Given the description of an element on the screen output the (x, y) to click on. 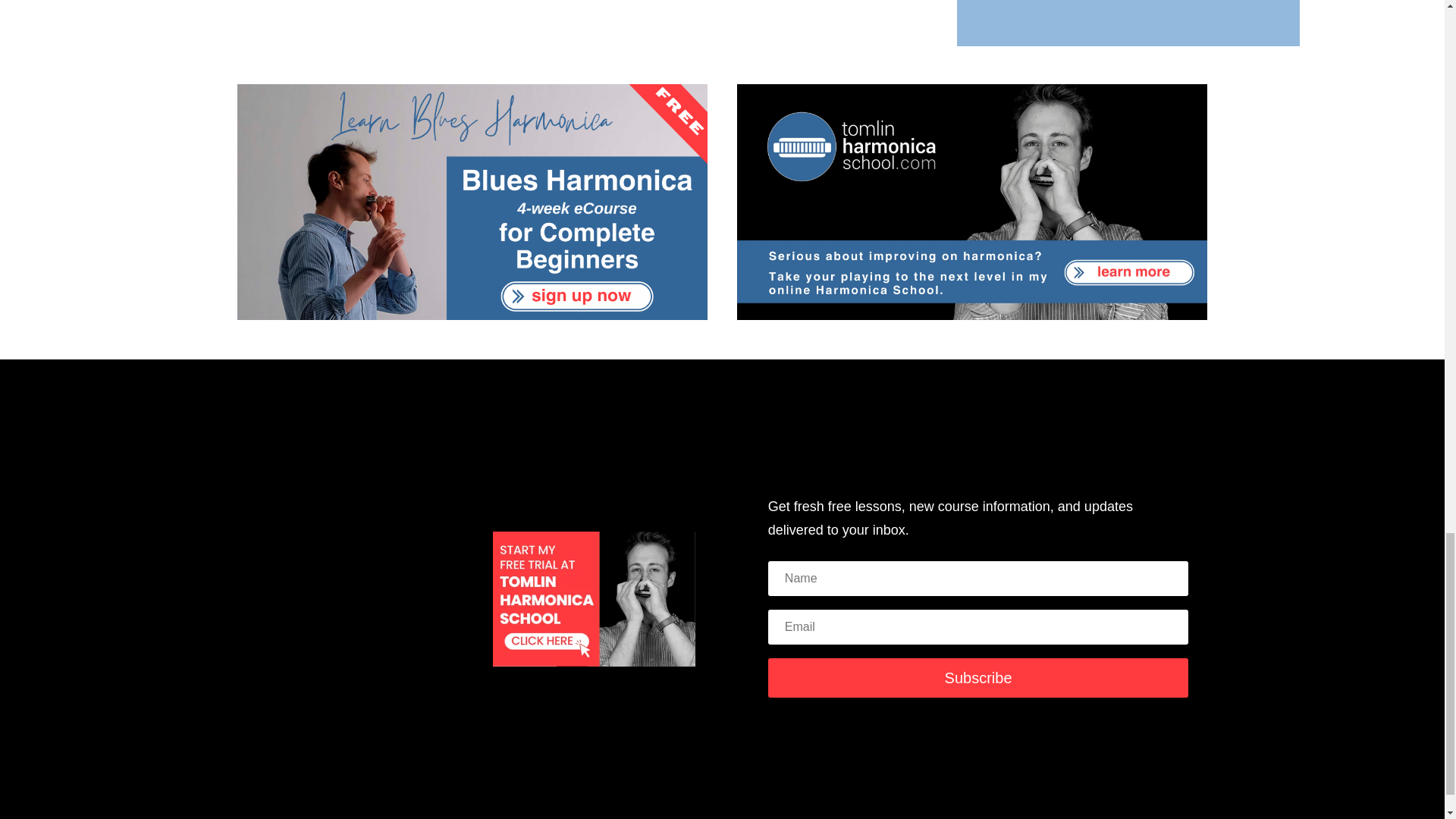
Tomlin Harmonica School 2400p (972, 201)
Learn Blues Harmonica 2400p (471, 201)
